Given the description of an element on the screen output the (x, y) to click on. 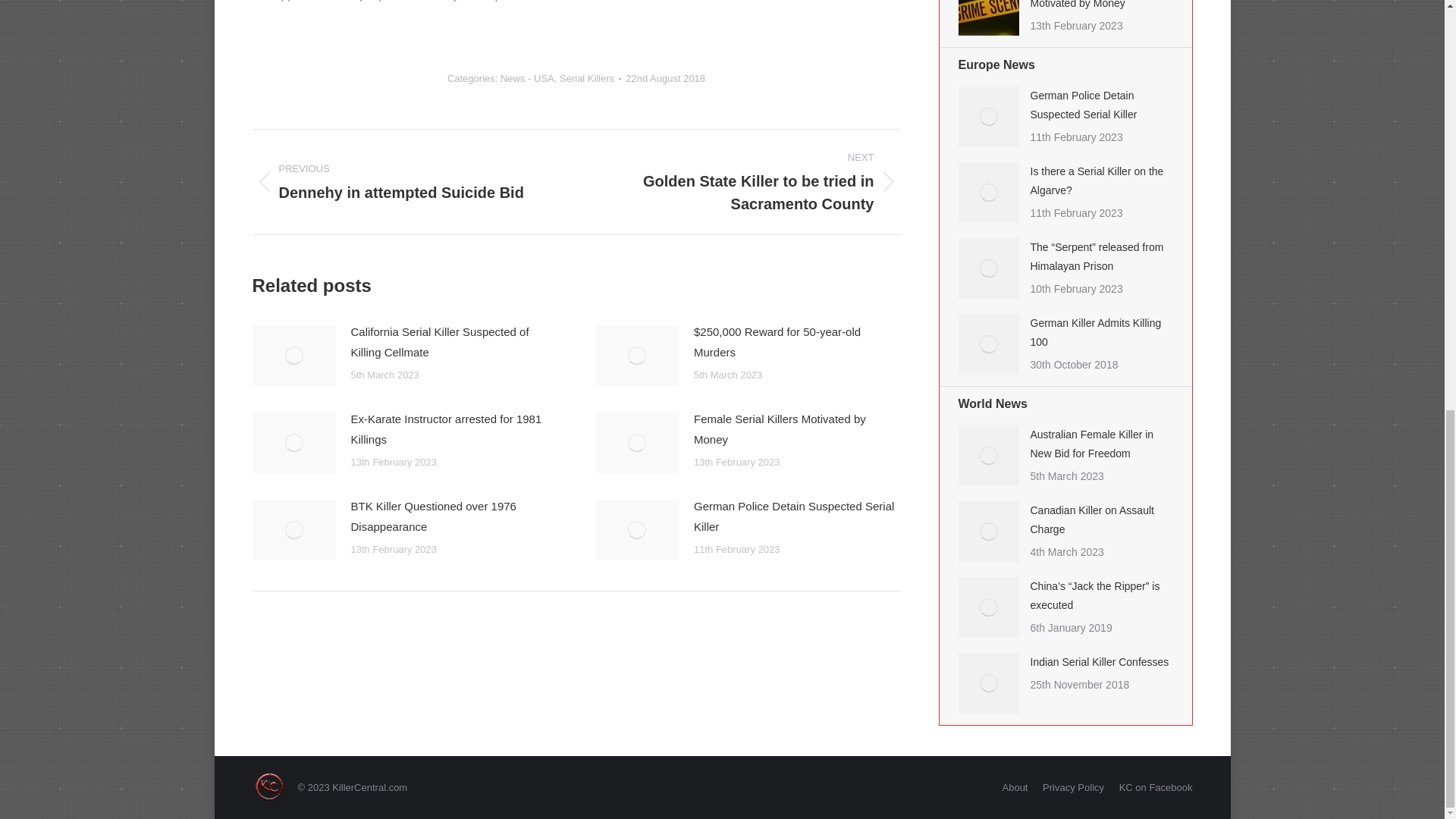
21:47 (665, 77)
